Given the description of an element on the screen output the (x, y) to click on. 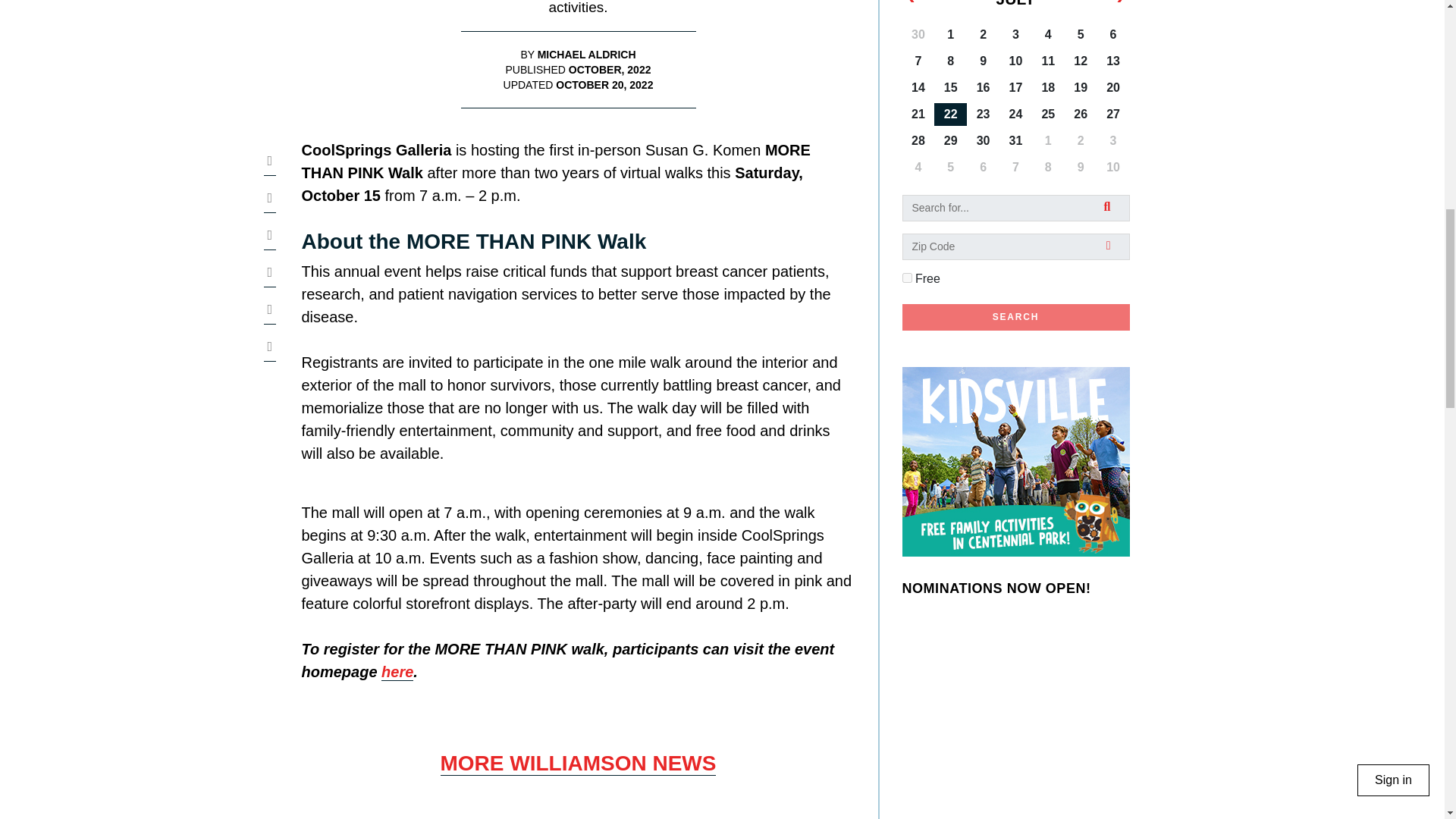
Free (907, 277)
Search (1015, 316)
Centennial Conserv sidebar 0724 (1015, 461)
